Given the description of an element on the screen output the (x, y) to click on. 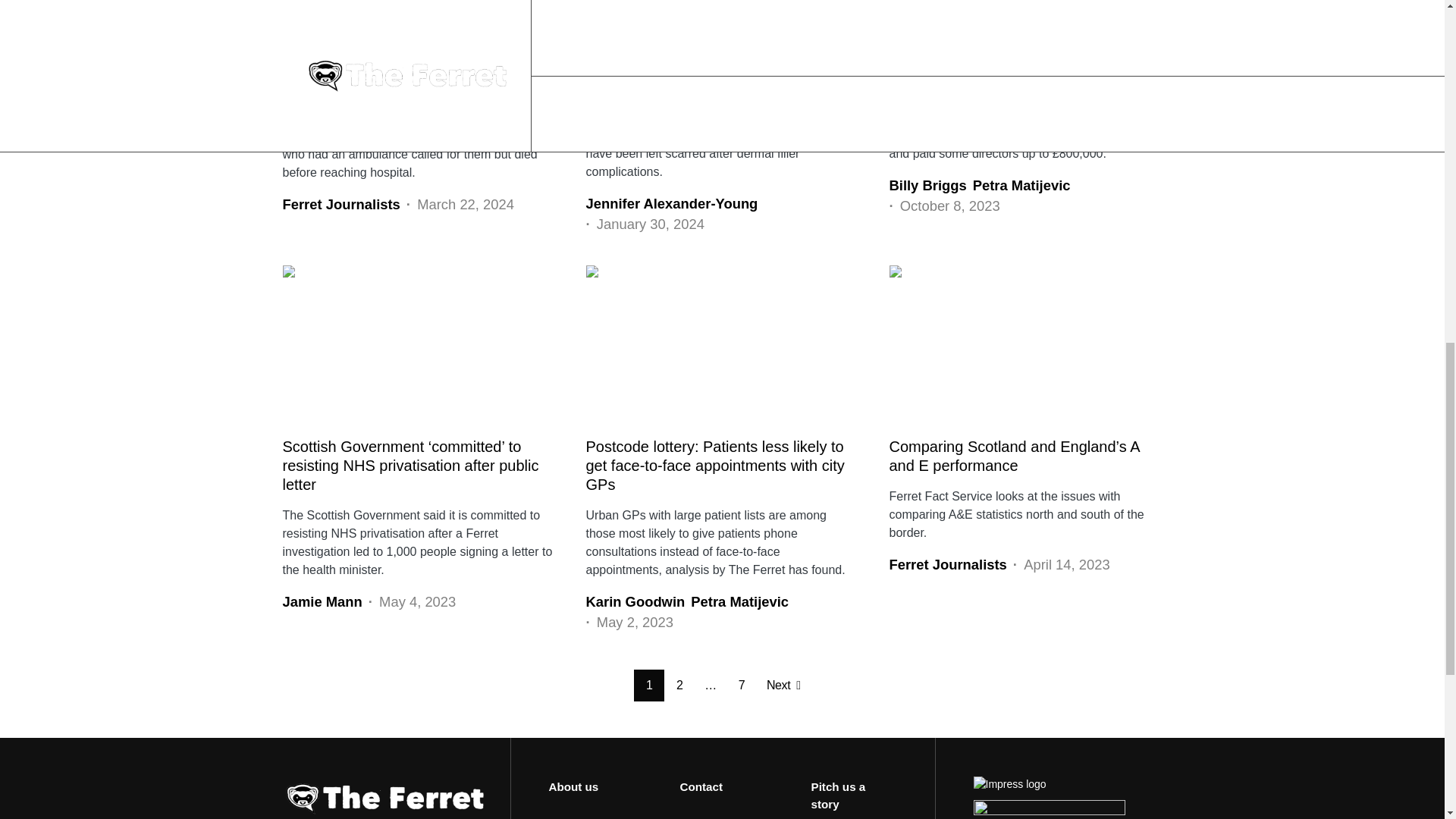
View all posts by Billy Briggs (927, 185)
View all posts by Jennifer Alexander-Young (671, 203)
View all posts by Petra Matijevic (739, 601)
View all posts by Ferret Journalists (947, 564)
View all posts by Karin Goodwin (634, 601)
View all posts by Petra Matijevic (1021, 185)
View all posts by Ferret Journalists (340, 204)
View all posts by Jamie Mann (321, 601)
